Given the description of an element on the screen output the (x, y) to click on. 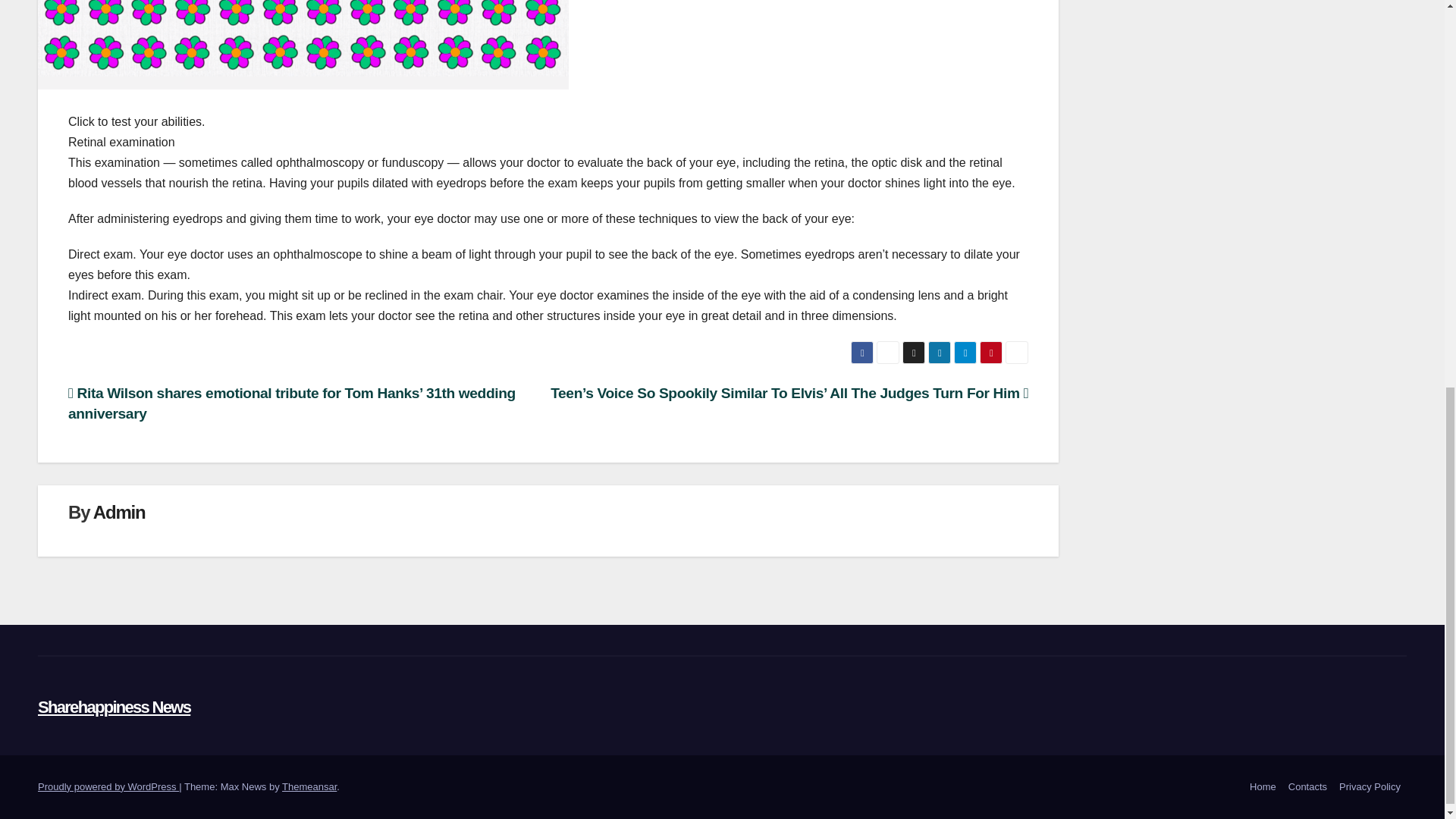
Home (1262, 786)
Sharehappiness News (113, 706)
Admin (119, 512)
